Given the description of an element on the screen output the (x, y) to click on. 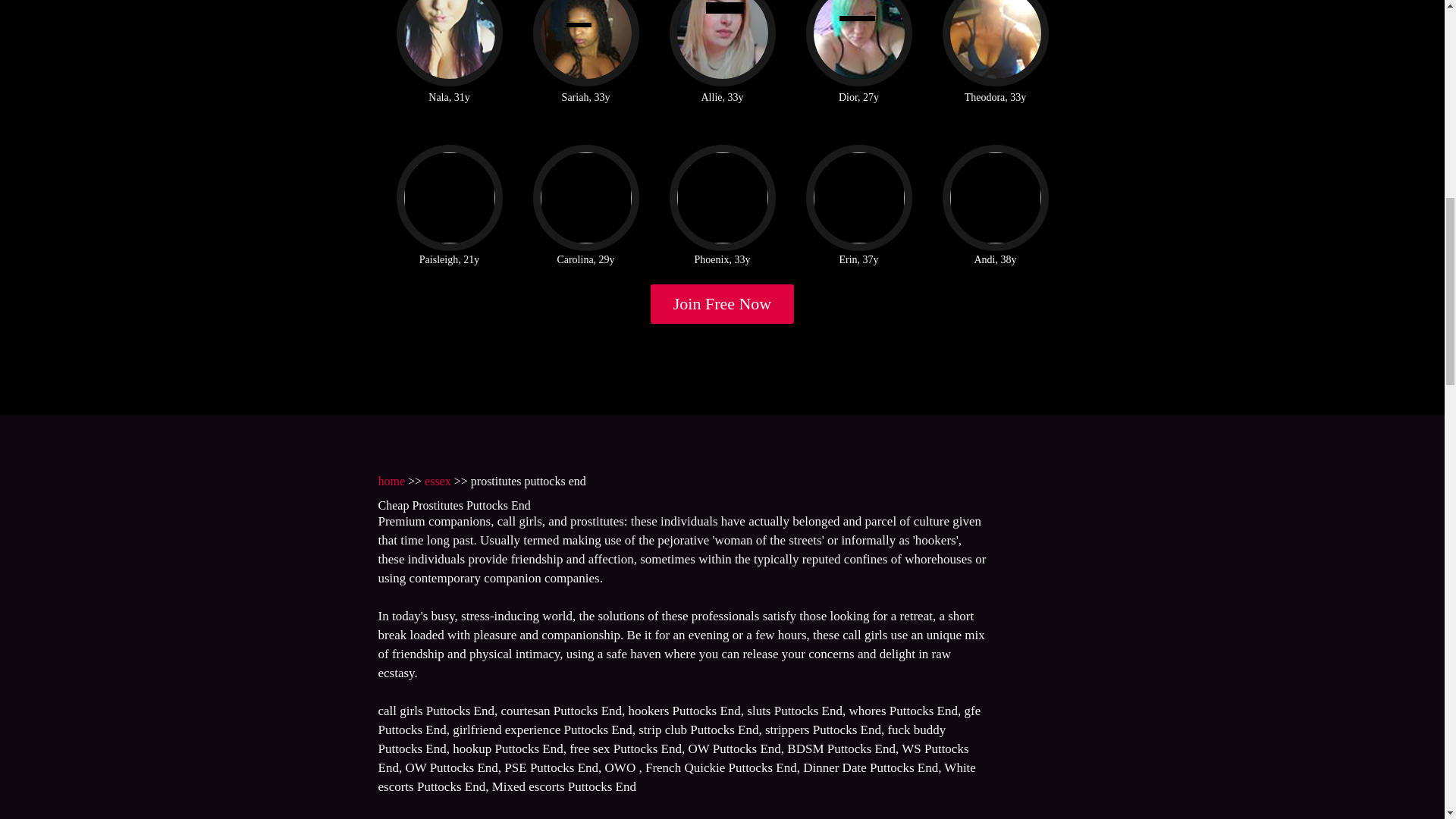
home (390, 481)
essex (438, 481)
Join (722, 303)
Join Free Now (722, 303)
